Given the description of an element on the screen output the (x, y) to click on. 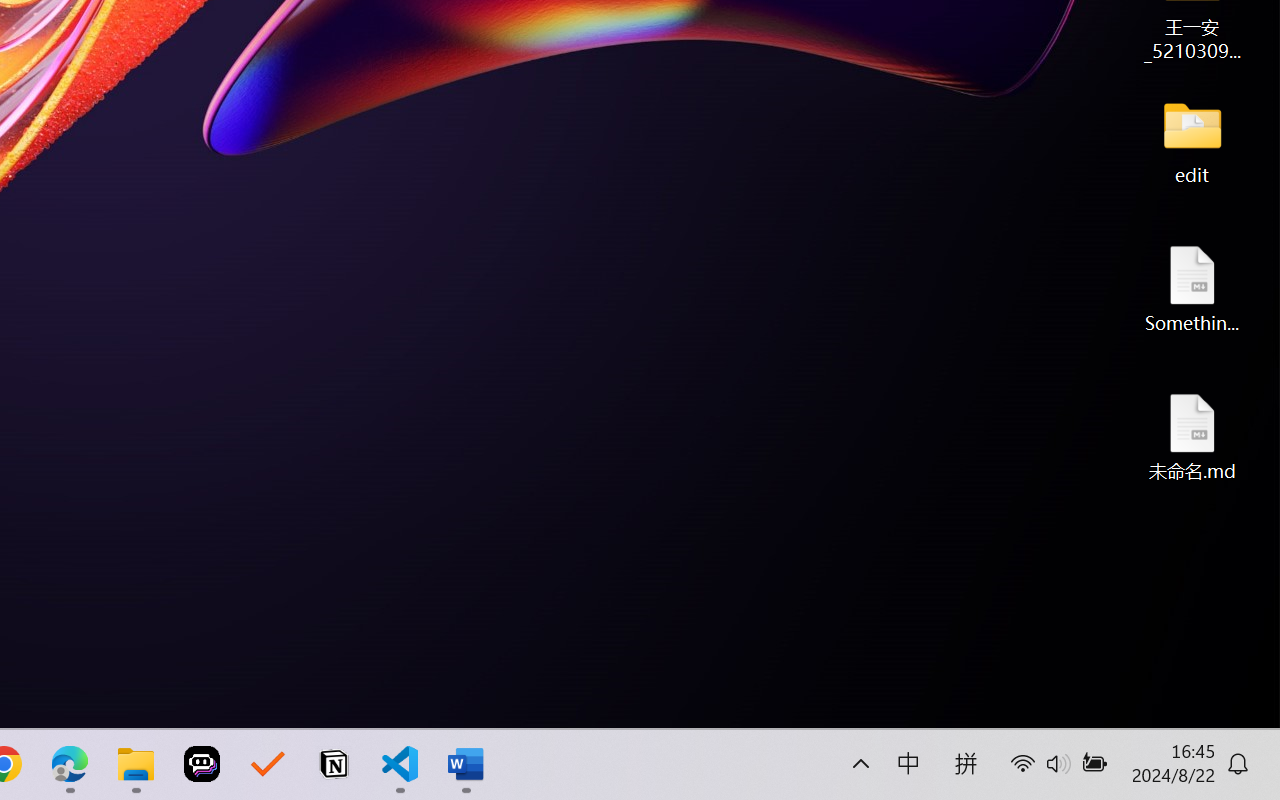
edit (1192, 140)
